Given the description of an element on the screen output the (x, y) to click on. 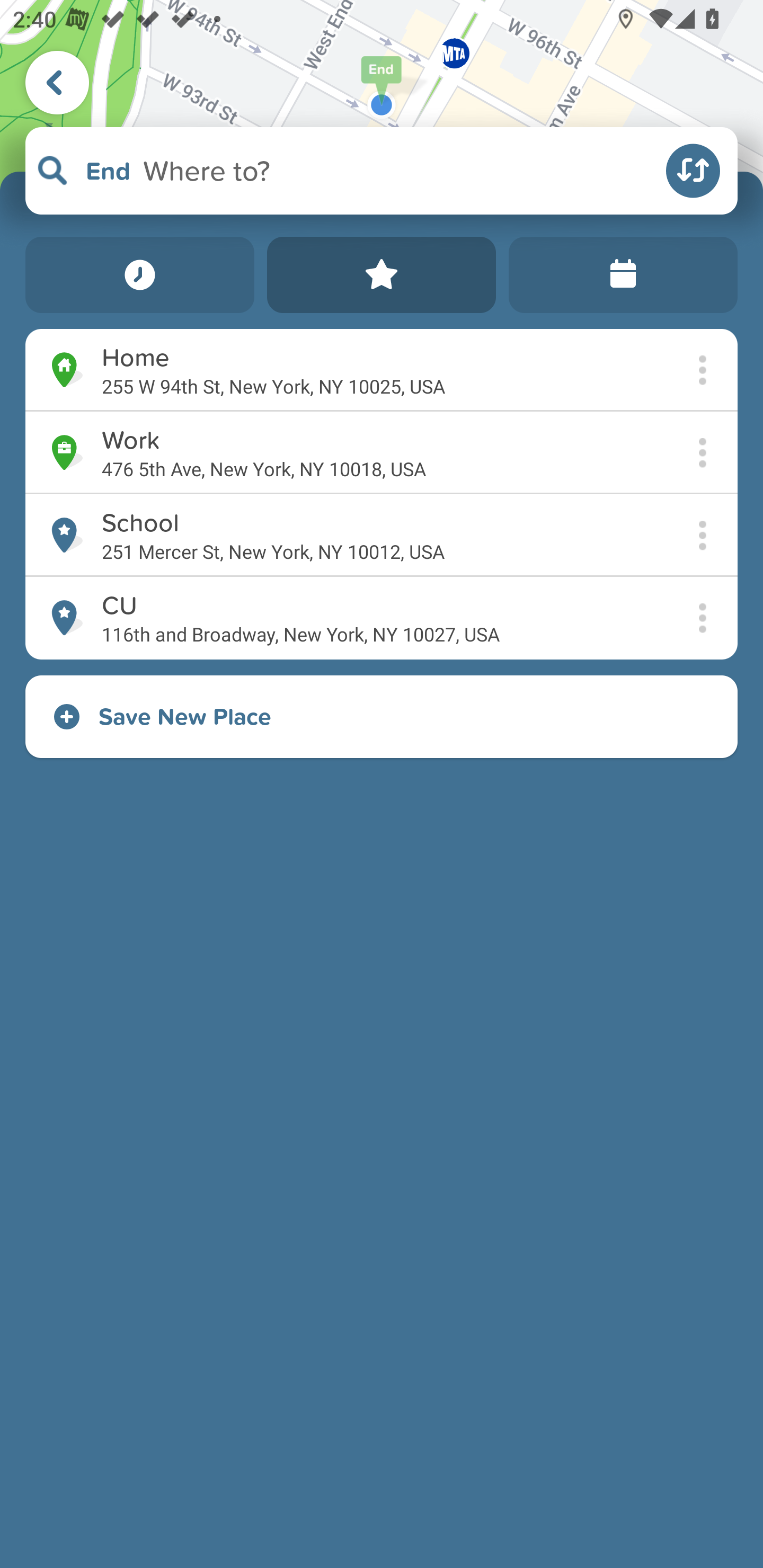
Save New Place (381, 716)
